Given the description of an element on the screen output the (x, y) to click on. 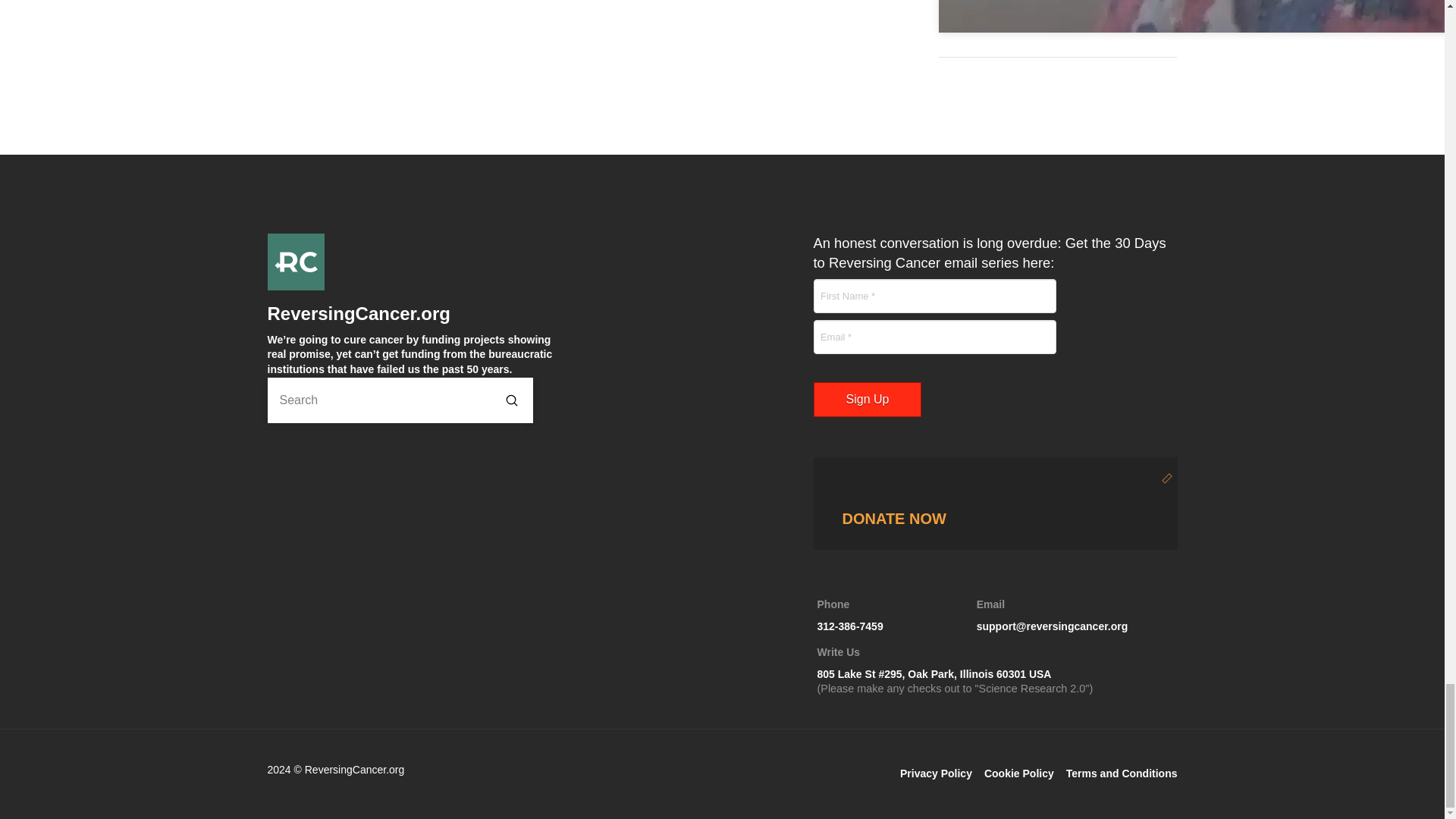
Terms and Conditions (1121, 773)
Privacy Policy (935, 773)
Terms and Conditions (1121, 773)
Cookie Policy (1019, 773)
Sign Up (866, 399)
Submit (510, 399)
DONATE NOW (849, 615)
Cookie Policy (994, 503)
Privacy Policy (1019, 773)
